Given the description of an element on the screen output the (x, y) to click on. 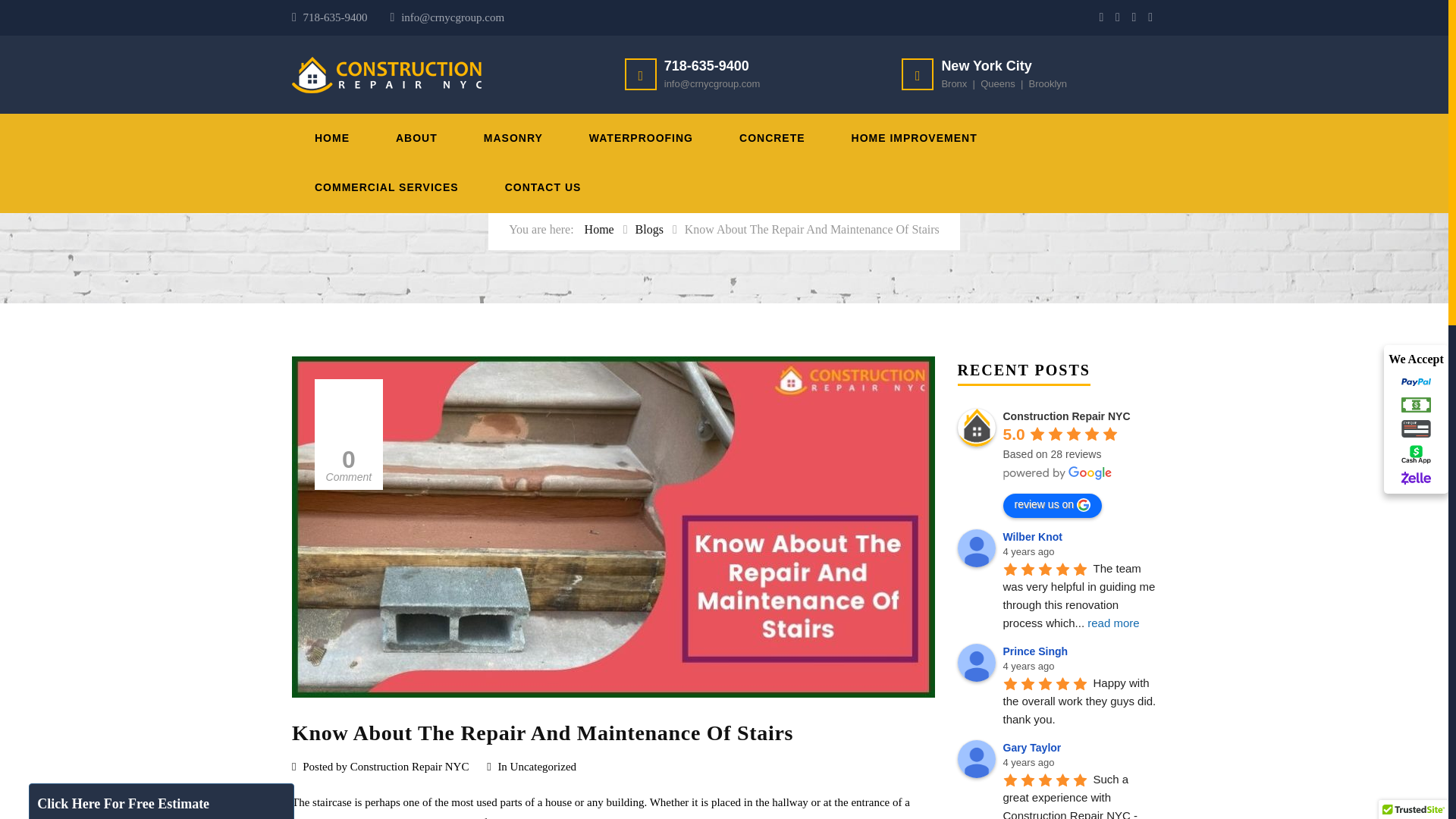
Prince Singh (975, 662)
Wilber Knot (975, 548)
Construction Repair NYC (975, 427)
powered by Google (1057, 472)
Gary Taylor (975, 759)
